Given the description of an element on the screen output the (x, y) to click on. 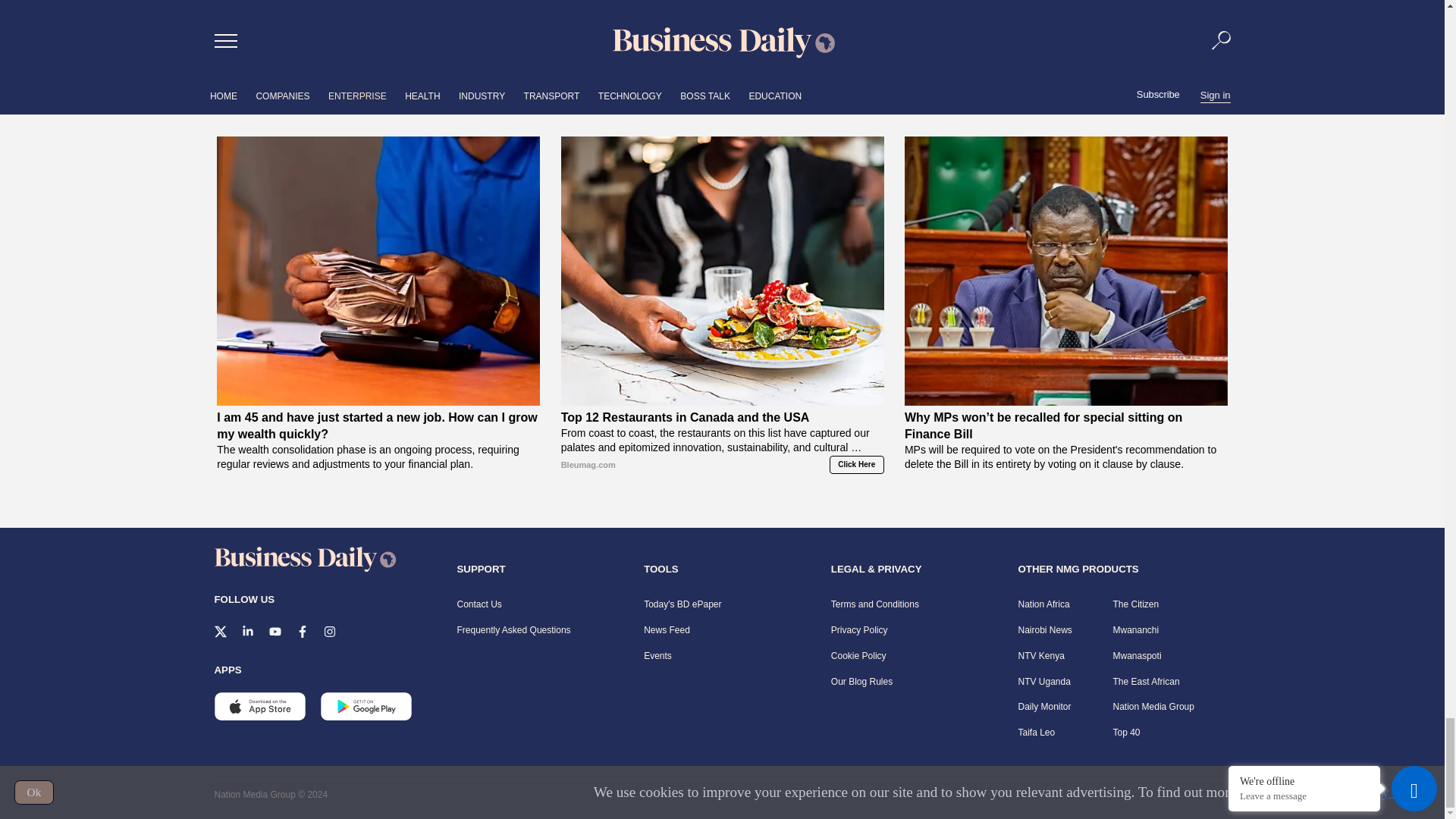
Top 12 Restaurants in Canada and the USA (721, 457)
4 first signs of Alzheimer's (1065, 67)
4 first signs of Alzheimer's (1065, 7)
Top 12 Restaurants in Canada and the USA (721, 270)
